Given the description of an element on the screen output the (x, y) to click on. 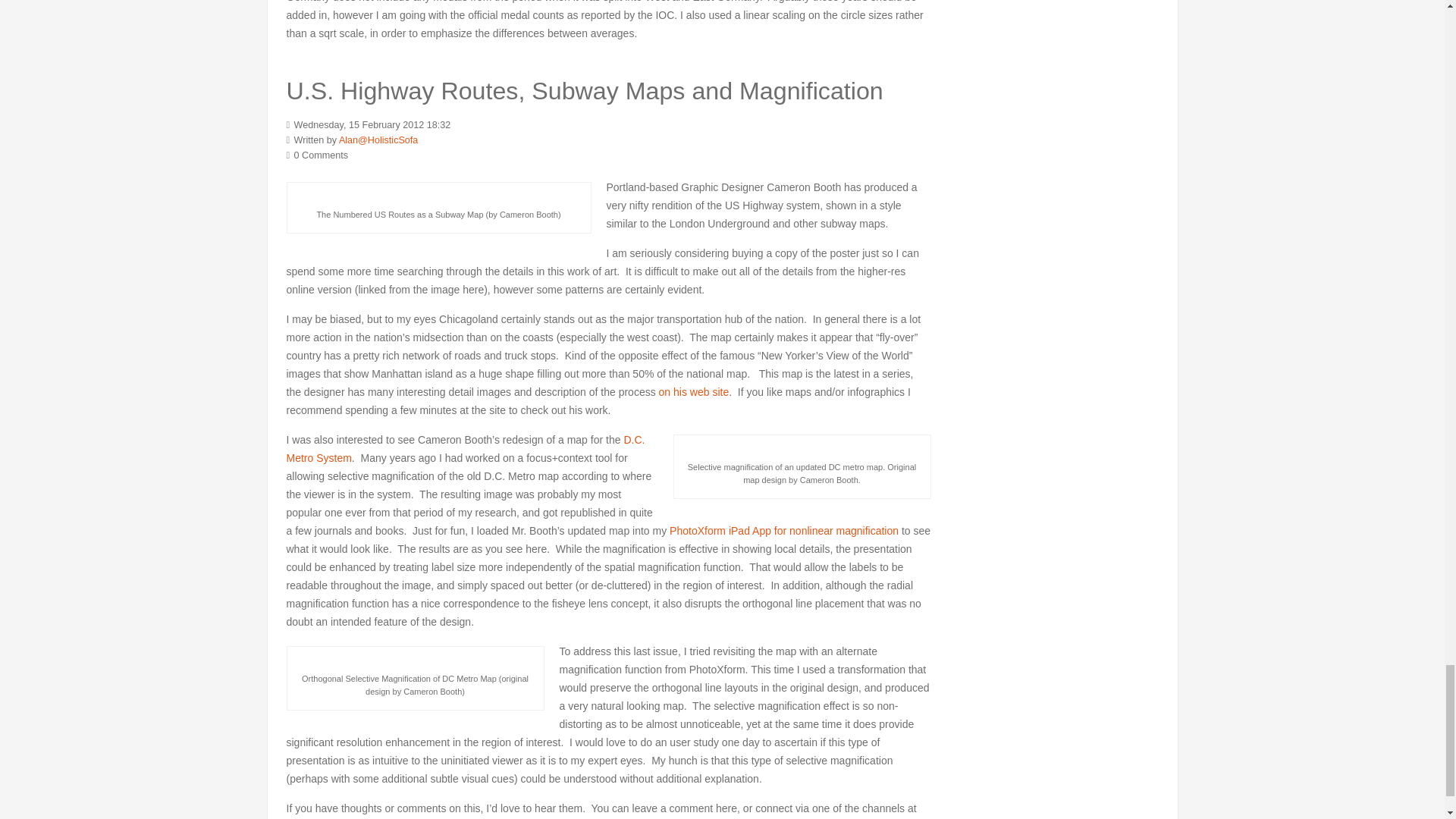
D.C. Metro System (465, 449)
on his web site (694, 391)
PhotoXform iPad App for nonlinear magnification (783, 530)
